Given the description of an element on the screen output the (x, y) to click on. 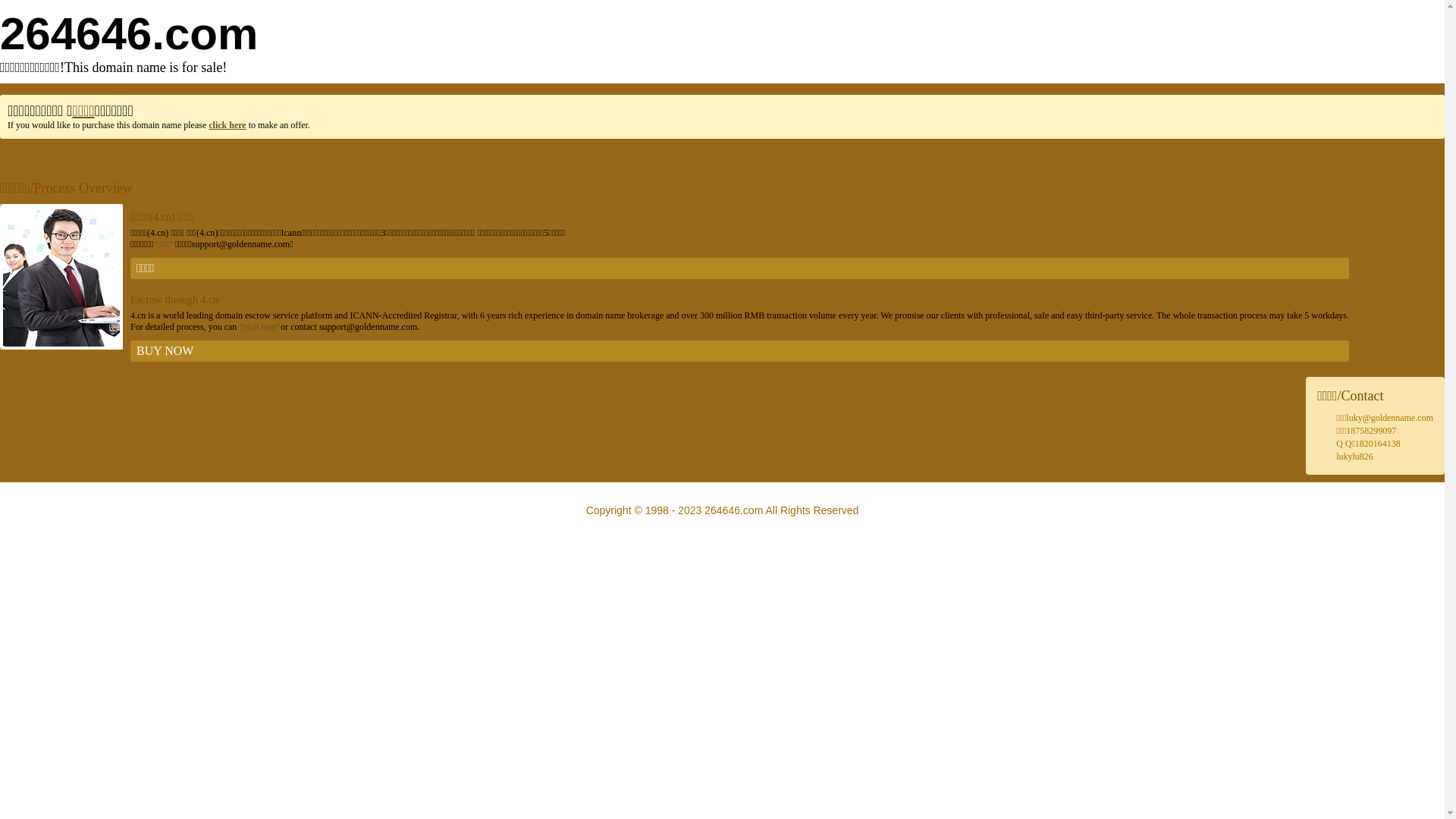
click here Element type: text (226, 124)
BUY NOW Element type: text (739, 350)
